Given the description of an element on the screen output the (x, y) to click on. 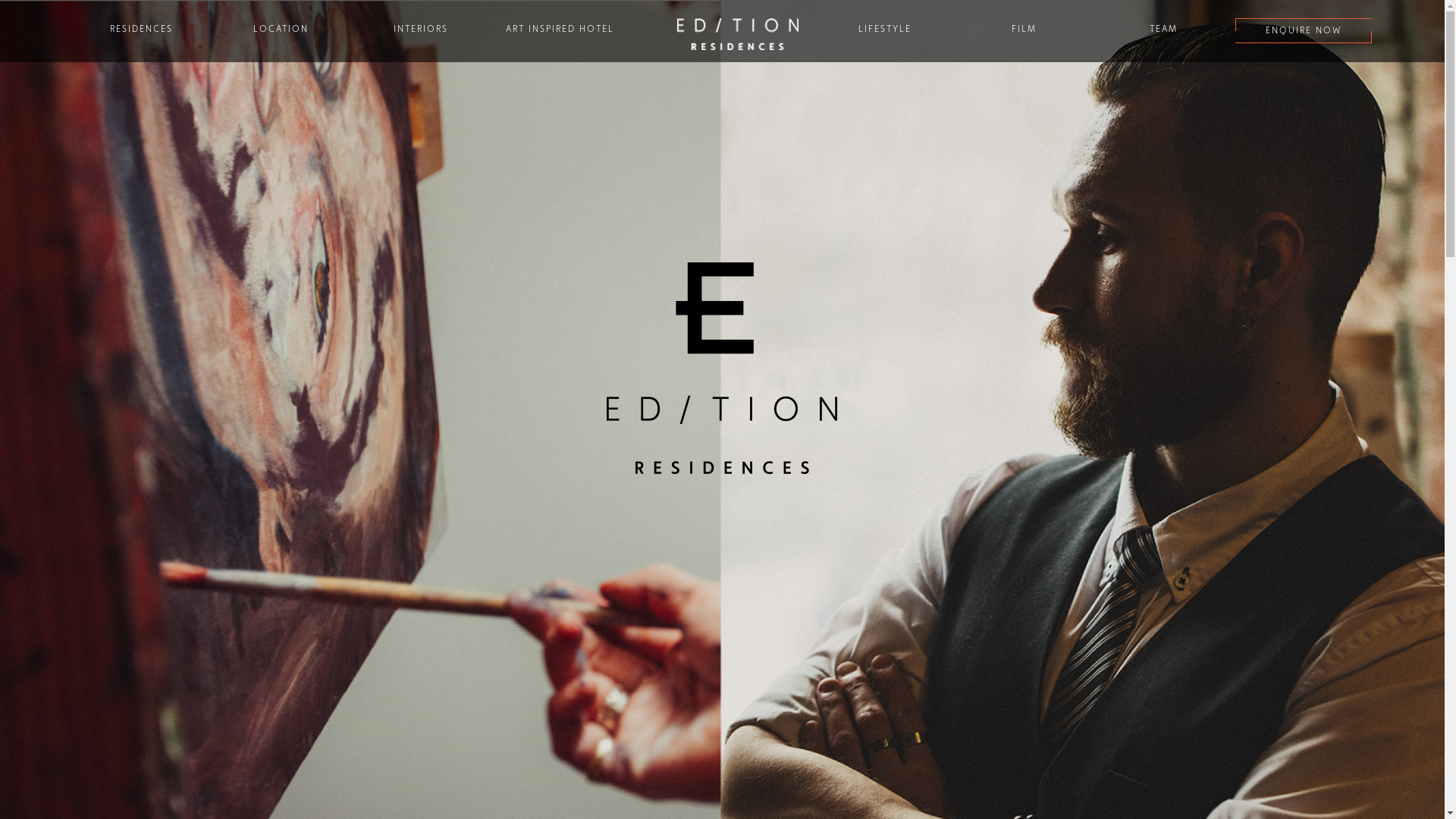
LOCATION Element type: text (280, 28)
ART INSPIRED HOTEL Element type: text (559, 28)
RESIDENCES Element type: text (140, 28)
index Element type: hover (736, 33)
LIFESTYLE Element type: text (884, 28)
INTERIORS Element type: text (419, 28)
ENQUIRE NOW Element type: text (1302, 30)
FILM Element type: text (1023, 28)
TEAM Element type: text (1163, 28)
